Given the description of an element on the screen output the (x, y) to click on. 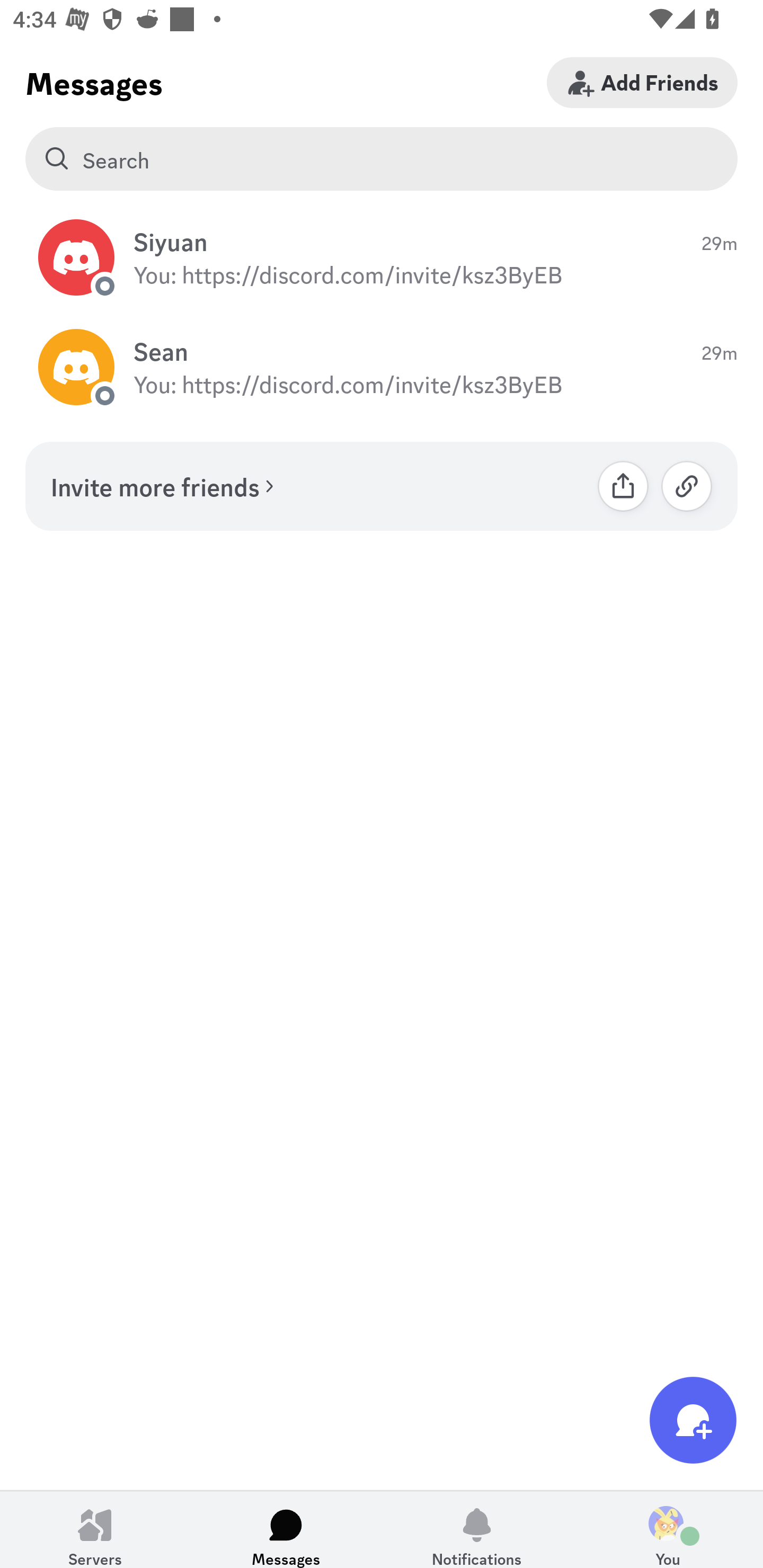
Add Friends (642, 82)
Search (381, 159)
Share Link (622, 485)
Copy Link (686, 485)
New Message (692, 1419)
Servers (95, 1529)
Messages (285, 1529)
Notifications (476, 1529)
You (667, 1529)
